Given the description of an element on the screen output the (x, y) to click on. 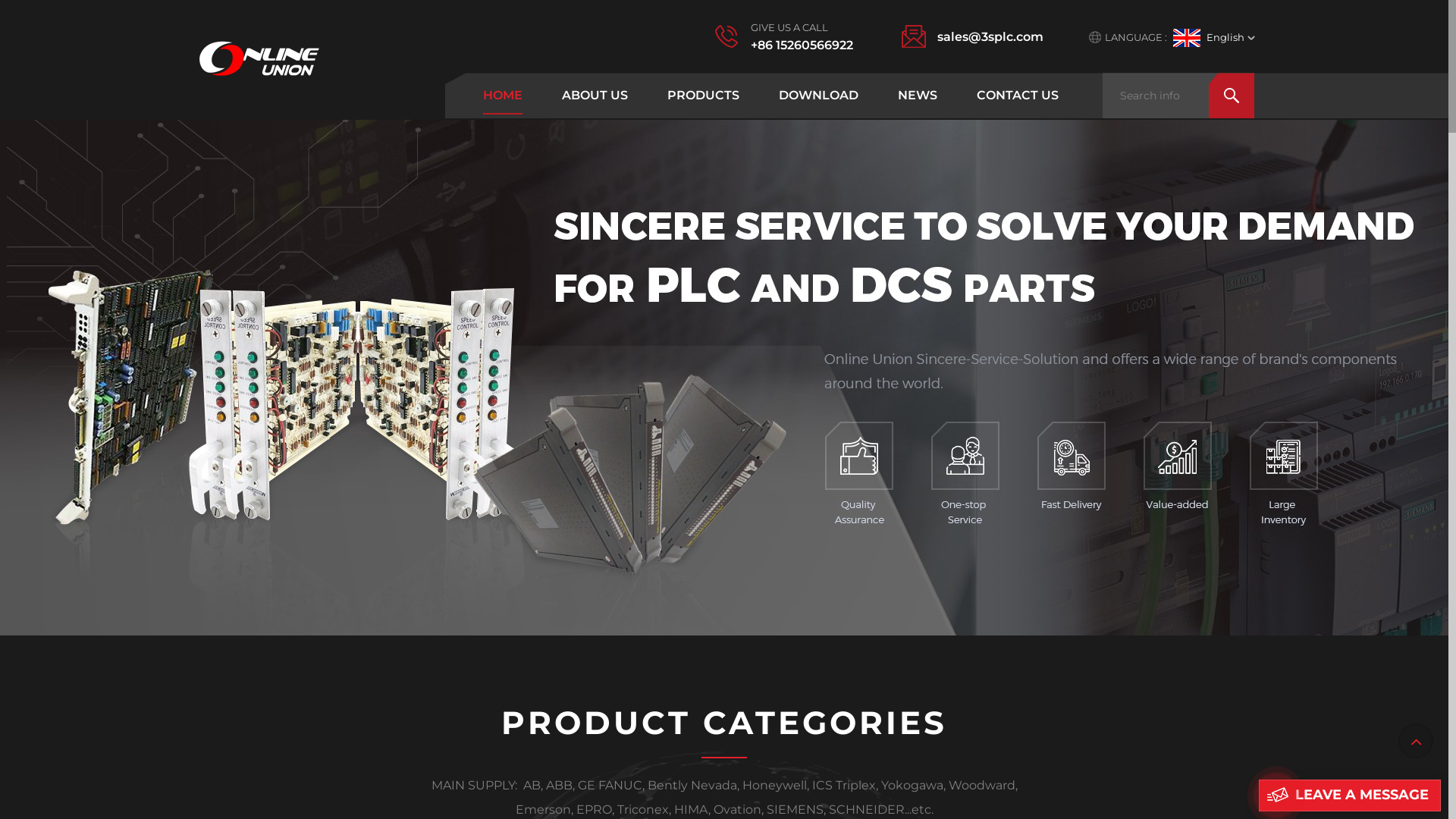
Search info Element type: text (1178, 95)
+86 15260566922 Element type: text (801, 45)
NEWS Element type: text (917, 95)
CONTACT US Element type: text (1017, 95)
HOME Element type: text (502, 95)
PRODUCTS Element type: text (703, 95)
sales@3splc.com Element type: text (990, 36)
ABOUT US Element type: text (594, 95)
DOWNLOAD Element type: text (818, 95)
